Given the description of an element on the screen output the (x, y) to click on. 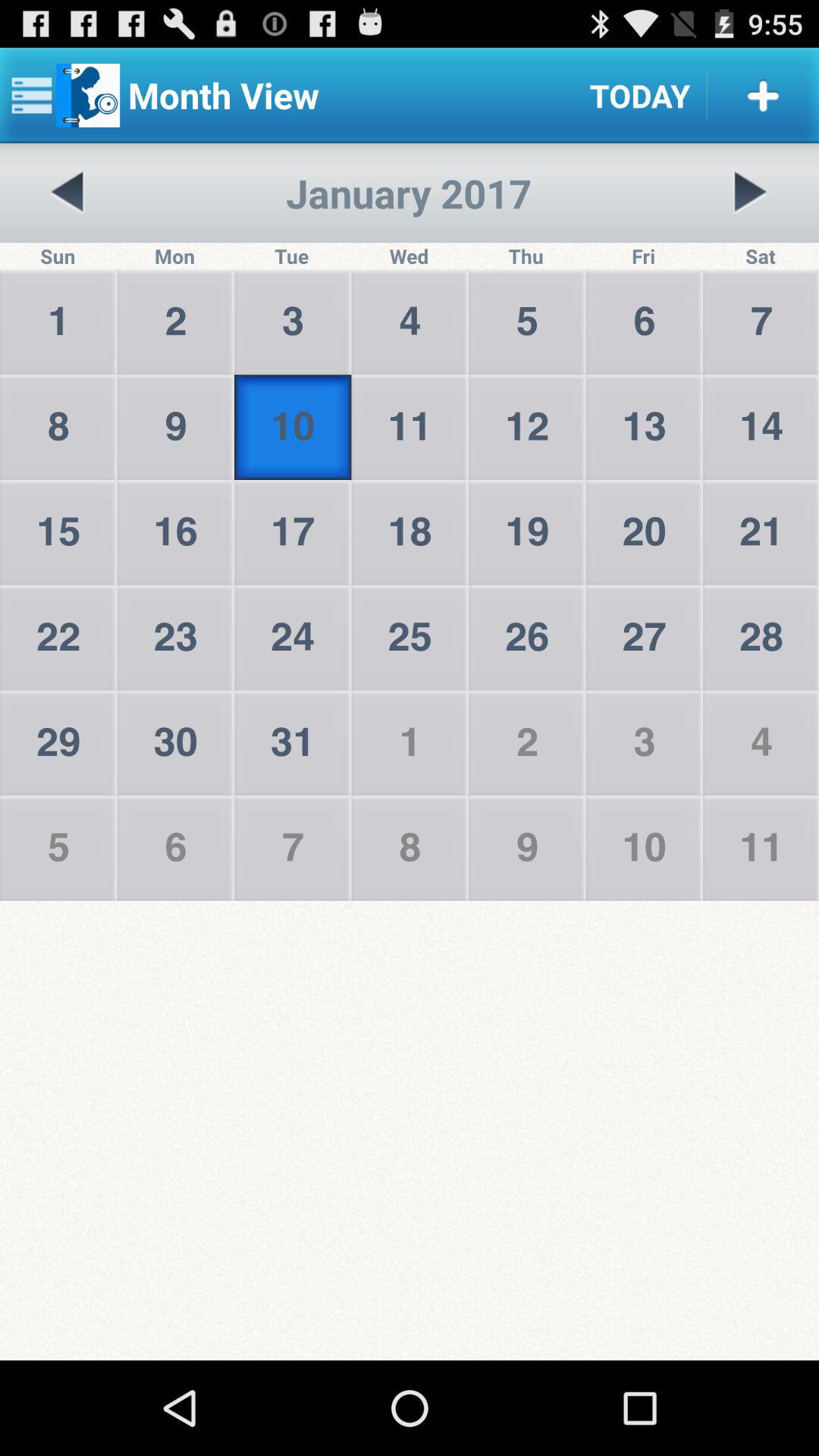
turn off the icon at the bottom (409, 1130)
